Given the description of an element on the screen output the (x, y) to click on. 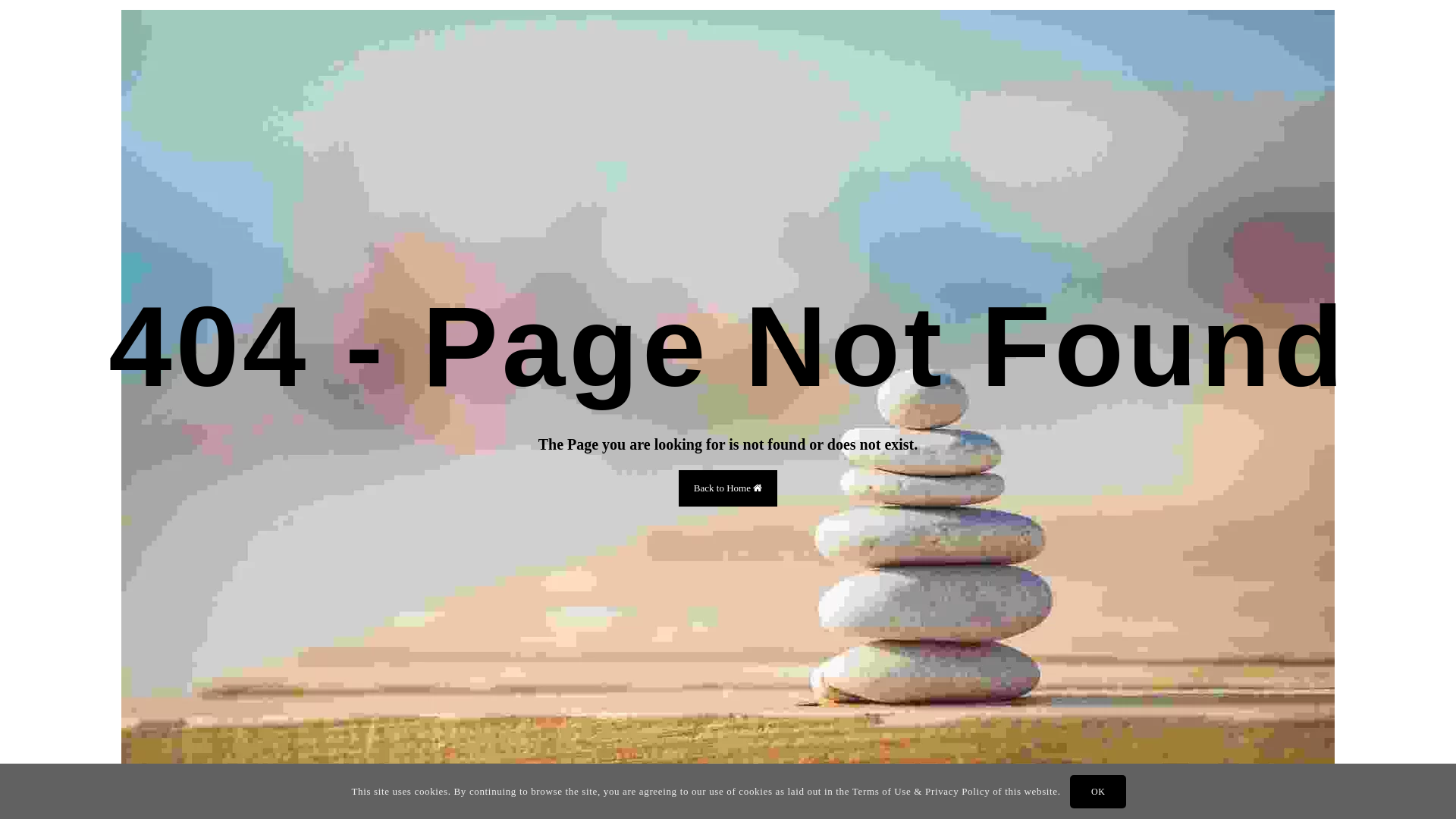
OK Element type: text (1098, 791)
Back to Home Element type: text (727, 488)
